Given the description of an element on the screen output the (x, y) to click on. 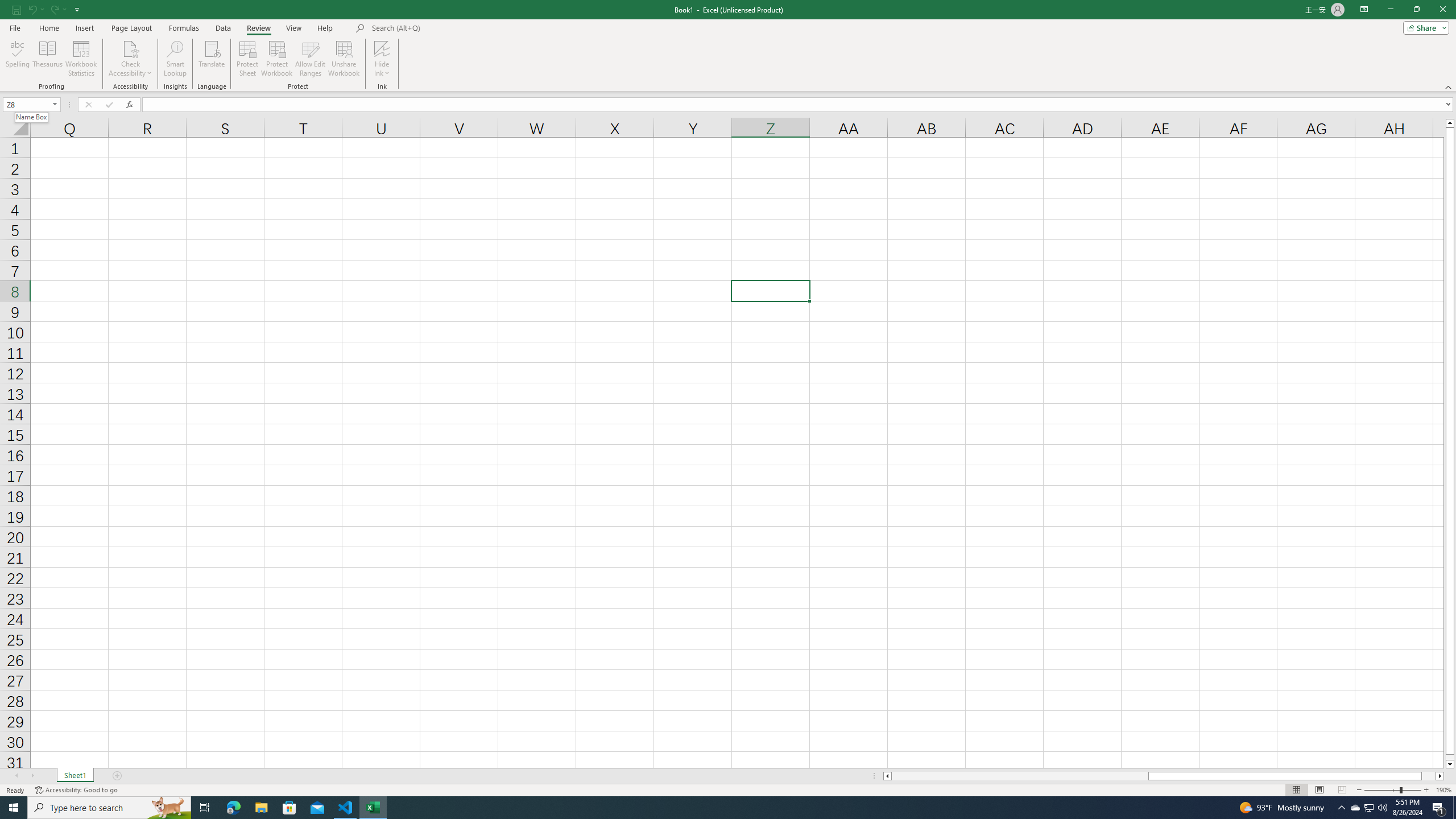
Allow Edit Ranges (310, 58)
Page left (1019, 775)
Hide Ink (381, 48)
